Given the description of an element on the screen output the (x, y) to click on. 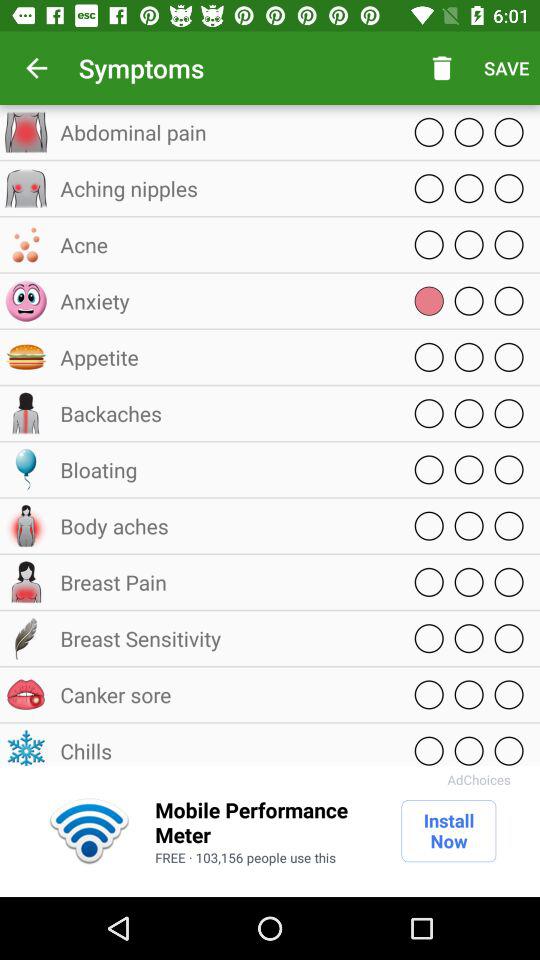
open the item below the body aches item (225, 582)
